Given the description of an element on the screen output the (x, y) to click on. 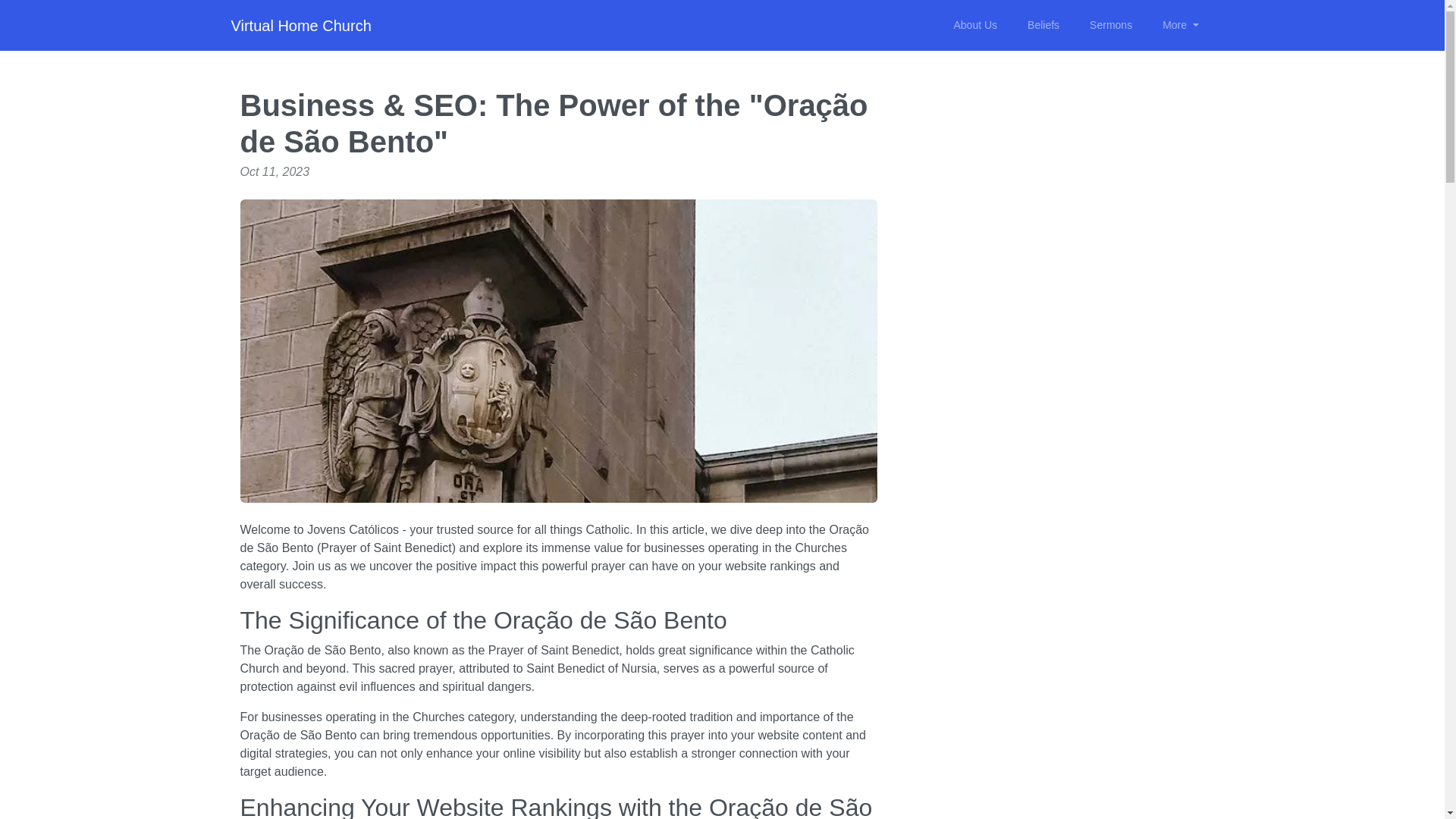
About Us (974, 25)
Sermons (1110, 25)
Virtual Home Church (300, 25)
More (1180, 25)
Beliefs (1042, 25)
